Given the description of an element on the screen output the (x, y) to click on. 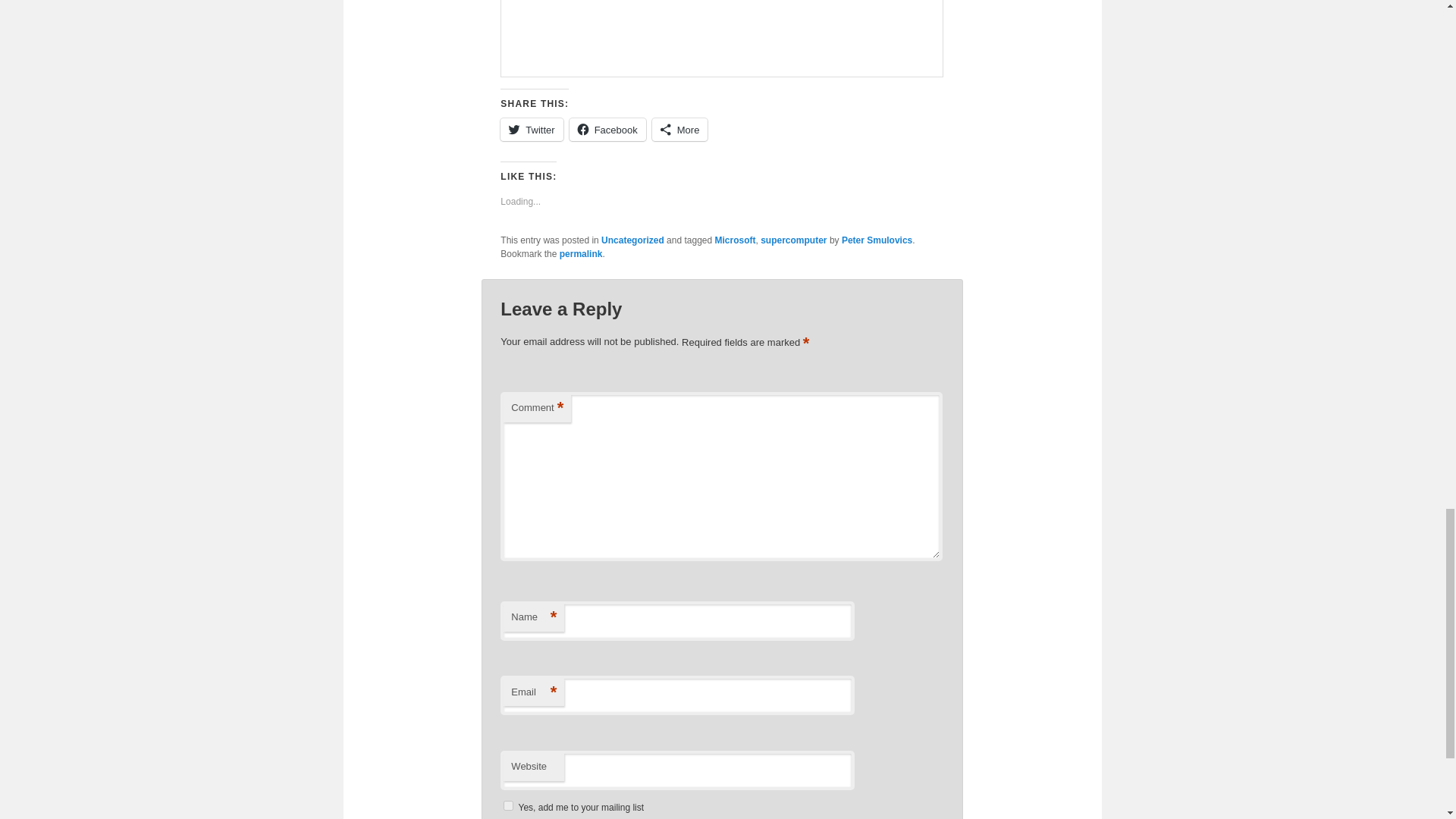
1 (508, 805)
supercomputer (793, 240)
permalink (580, 253)
Click to share on Twitter (531, 128)
Click to share on Facebook (607, 128)
Twitter (531, 128)
More (679, 128)
Microsoft (734, 240)
Uncategorized (632, 240)
Peter Smulovics (876, 240)
